Given the description of an element on the screen output the (x, y) to click on. 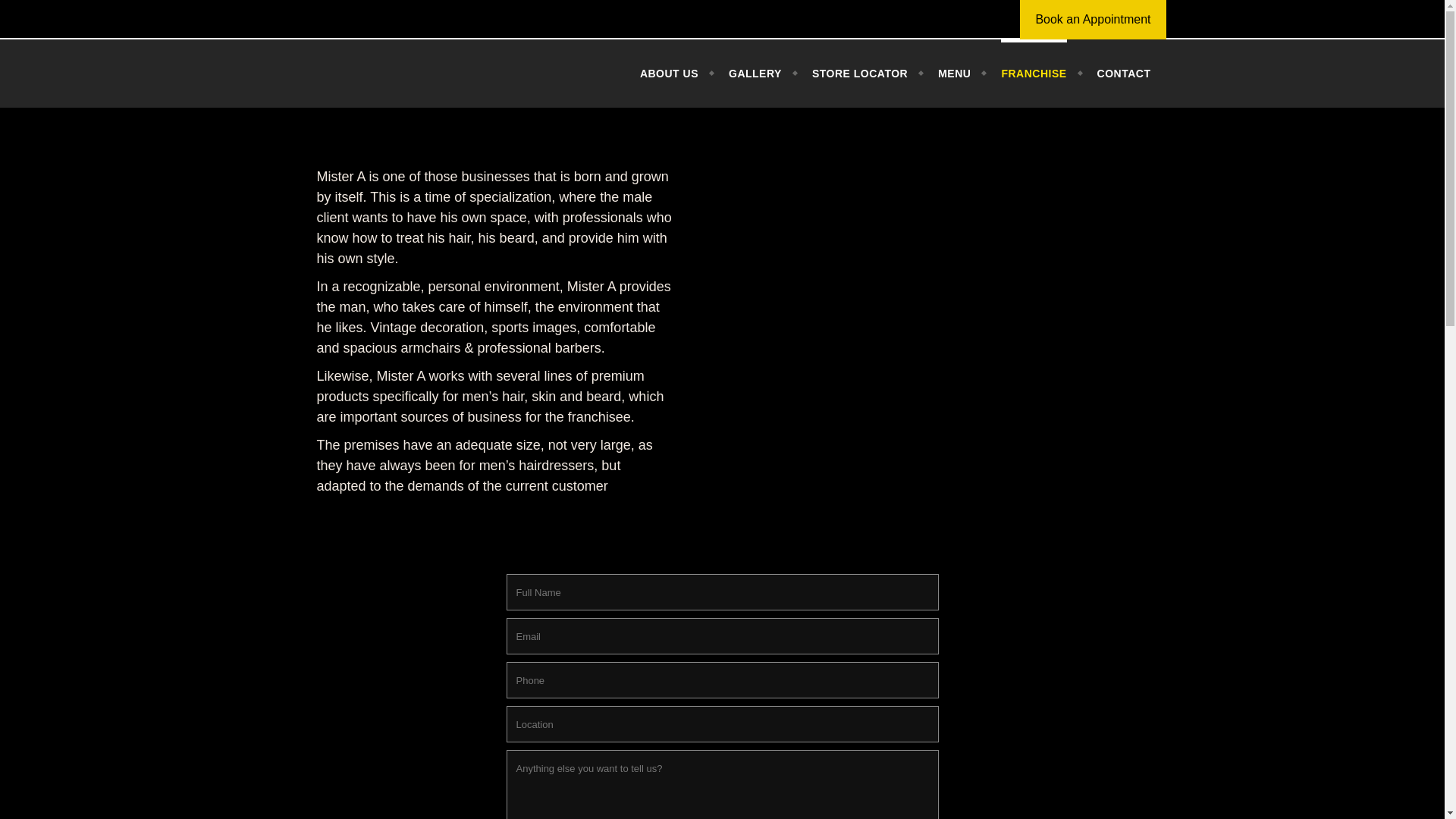
STORE LOCATOR (859, 73)
FRANCHISE (1033, 73)
Book an Appointment (1093, 19)
Marco Aldany (404, 73)
